Given the description of an element on the screen output the (x, y) to click on. 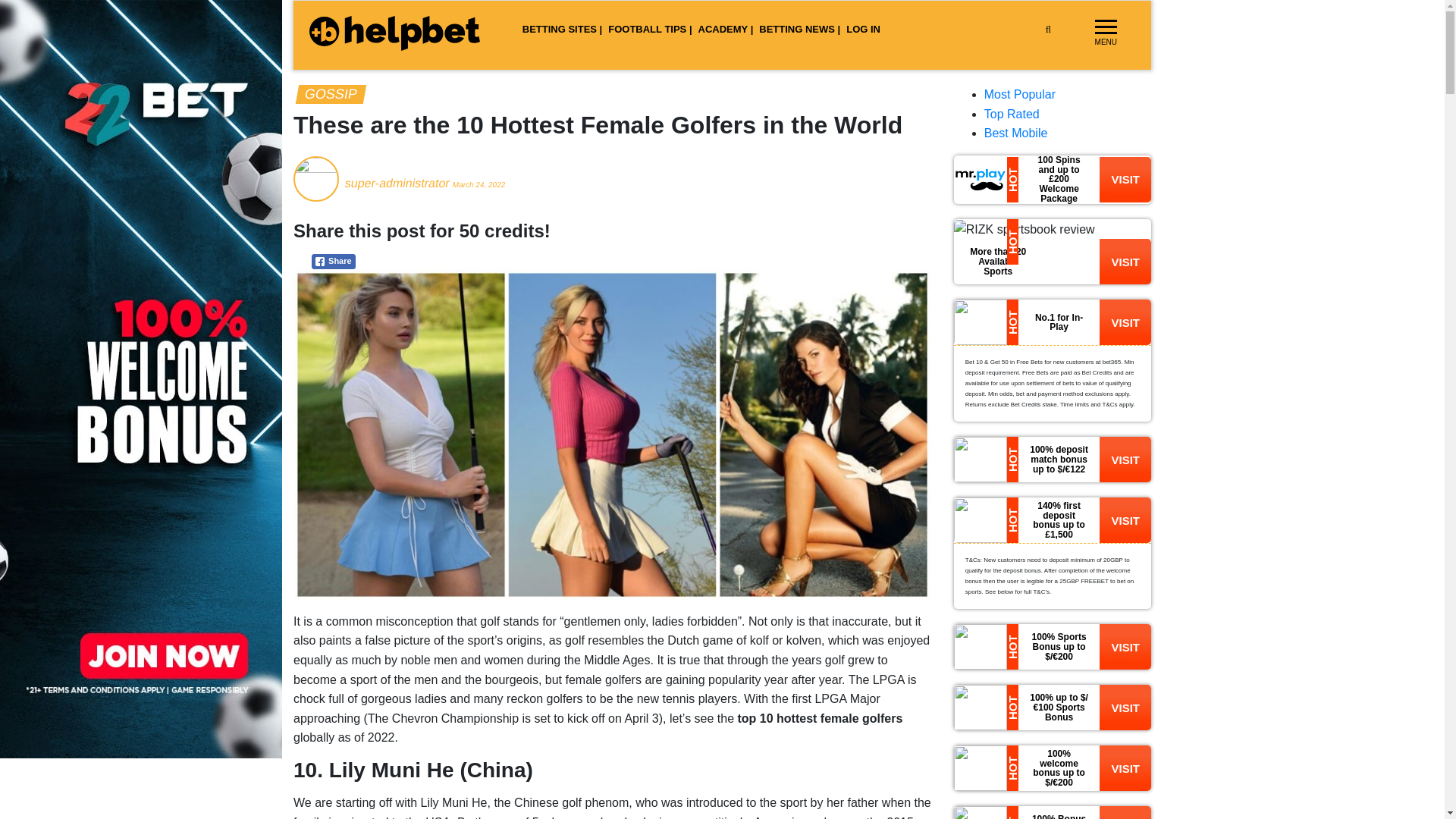
Search (1071, 64)
GOSSIP (328, 93)
LOG IN (863, 30)
